Given the description of an element on the screen output the (x, y) to click on. 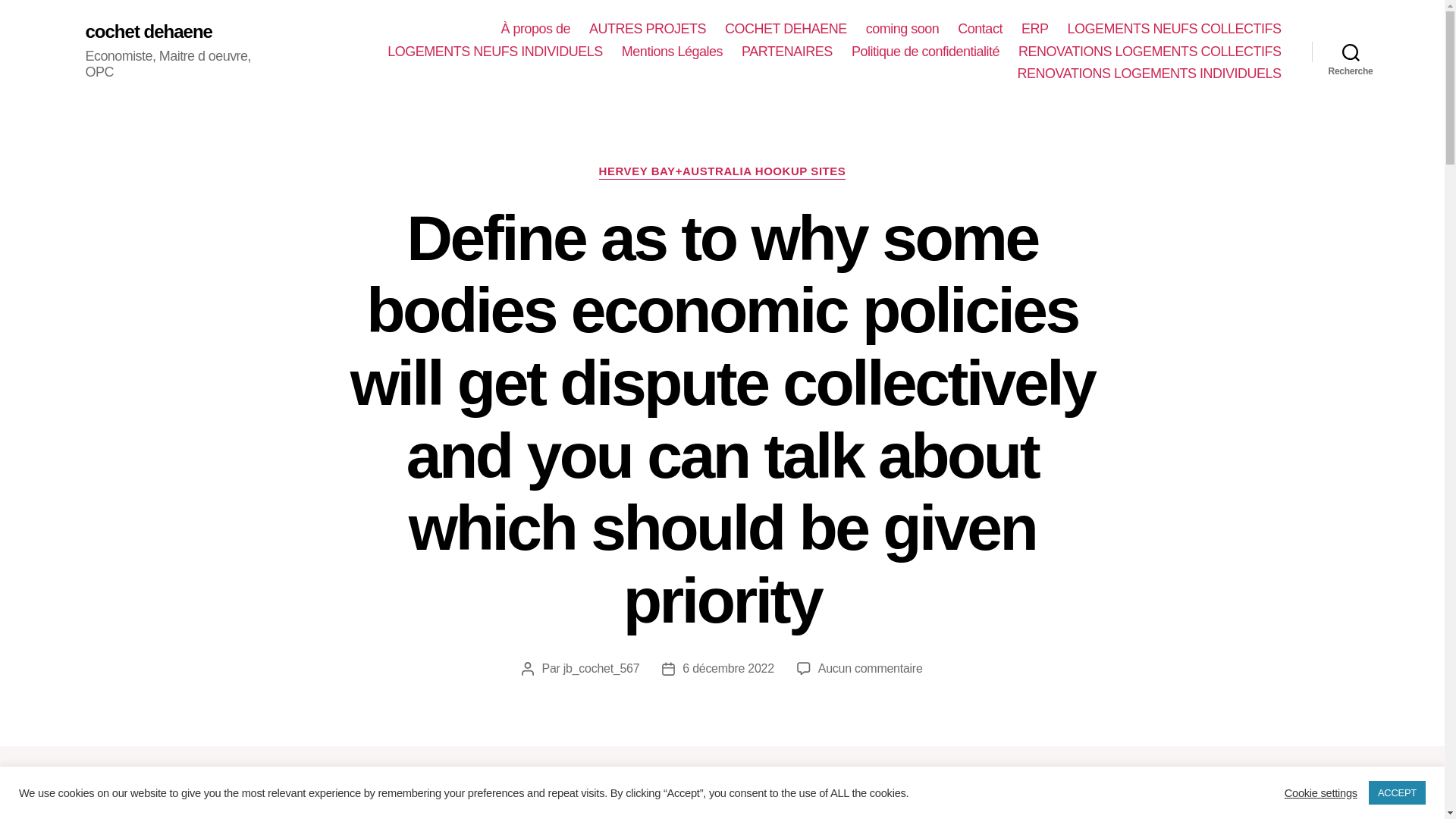
Recherche (1350, 51)
Aucun commentaire (870, 667)
RENOVATIONS LOGEMENTS COLLECTIFS (1149, 52)
PARTENAIRES (786, 52)
LOGEMENTS NEUFS INDIVIDUELS (494, 52)
Contact (980, 29)
COCHET DEHAENE (786, 29)
AUTRES PROJETS (647, 29)
cochet dehaene (147, 31)
coming soon (902, 29)
